Given the description of an element on the screen output the (x, y) to click on. 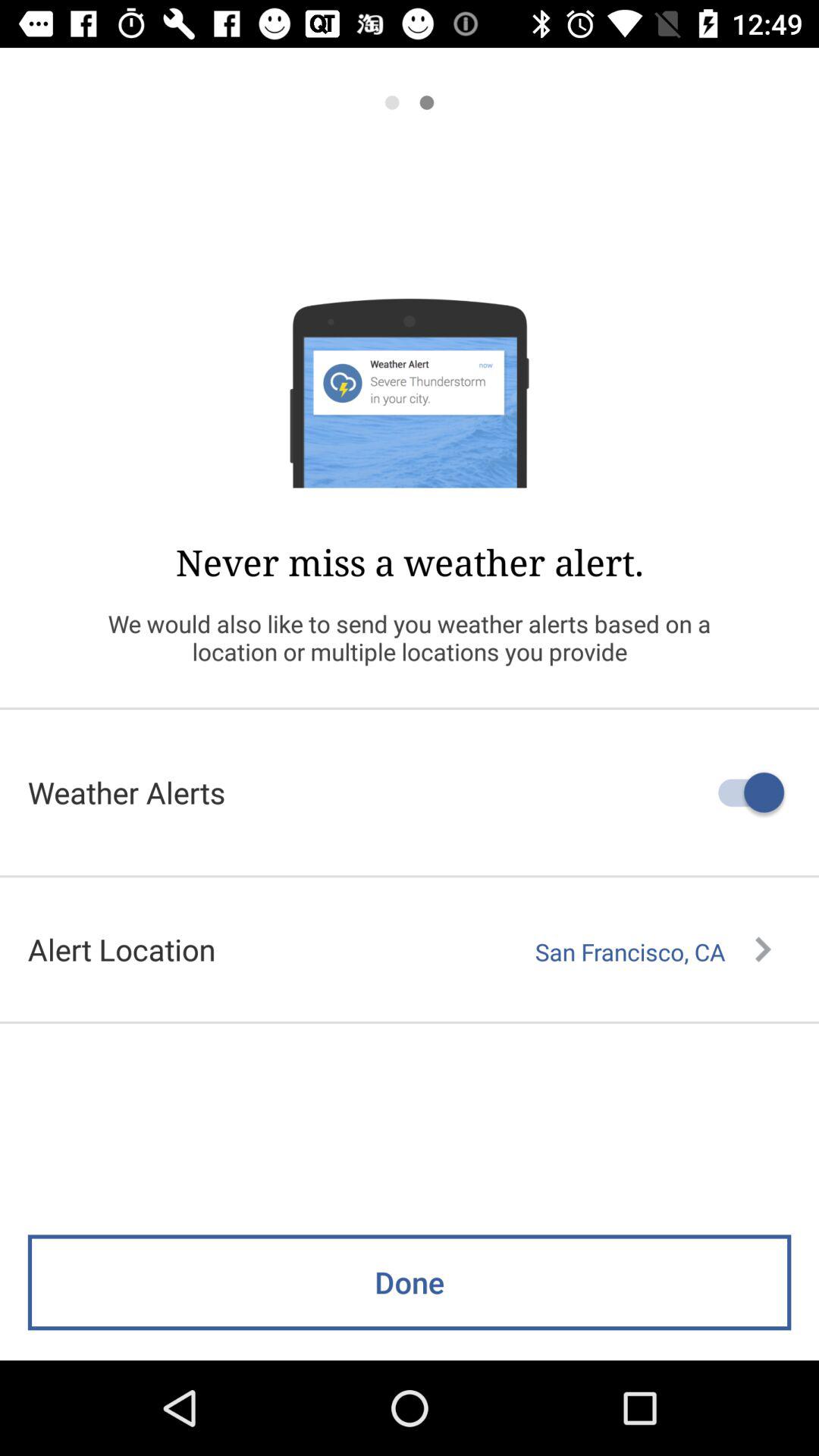
tap the icon to the right of alert location icon (653, 951)
